Given the description of an element on the screen output the (x, y) to click on. 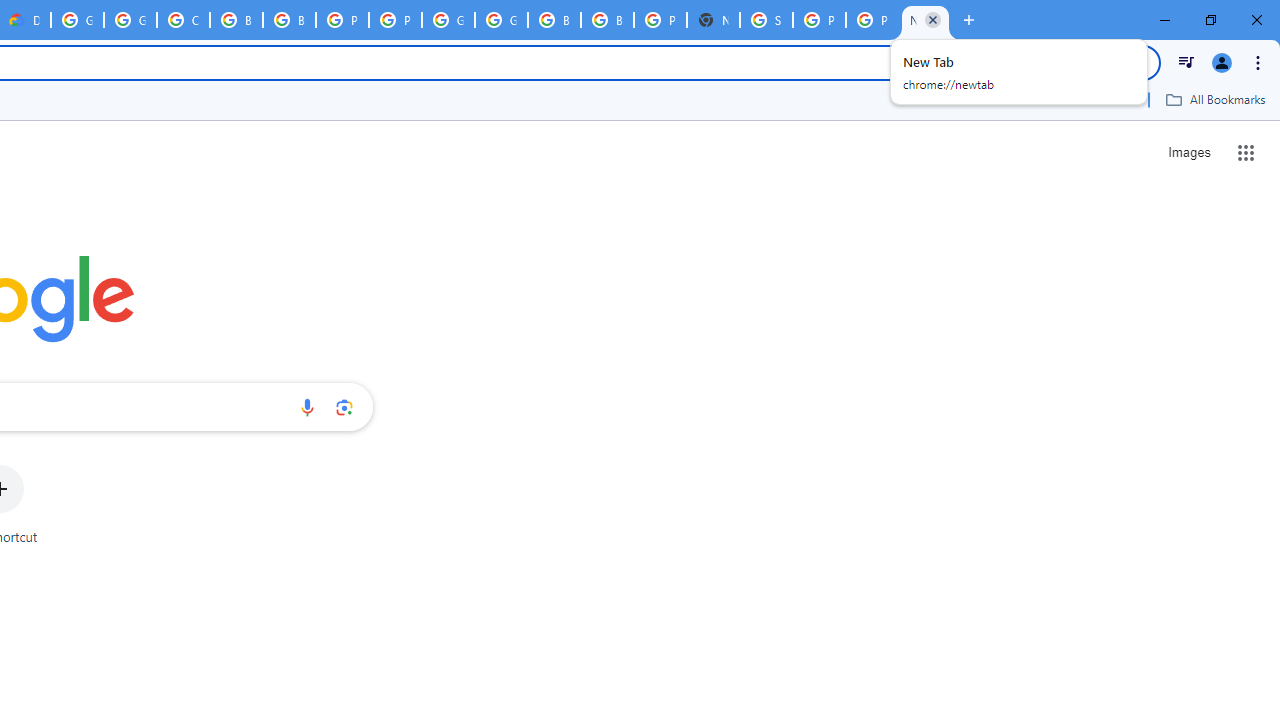
Browse Chrome as a guest - Computer - Google Chrome Help (554, 20)
Google Cloud Platform (448, 20)
